Given the description of an element on the screen output the (x, y) to click on. 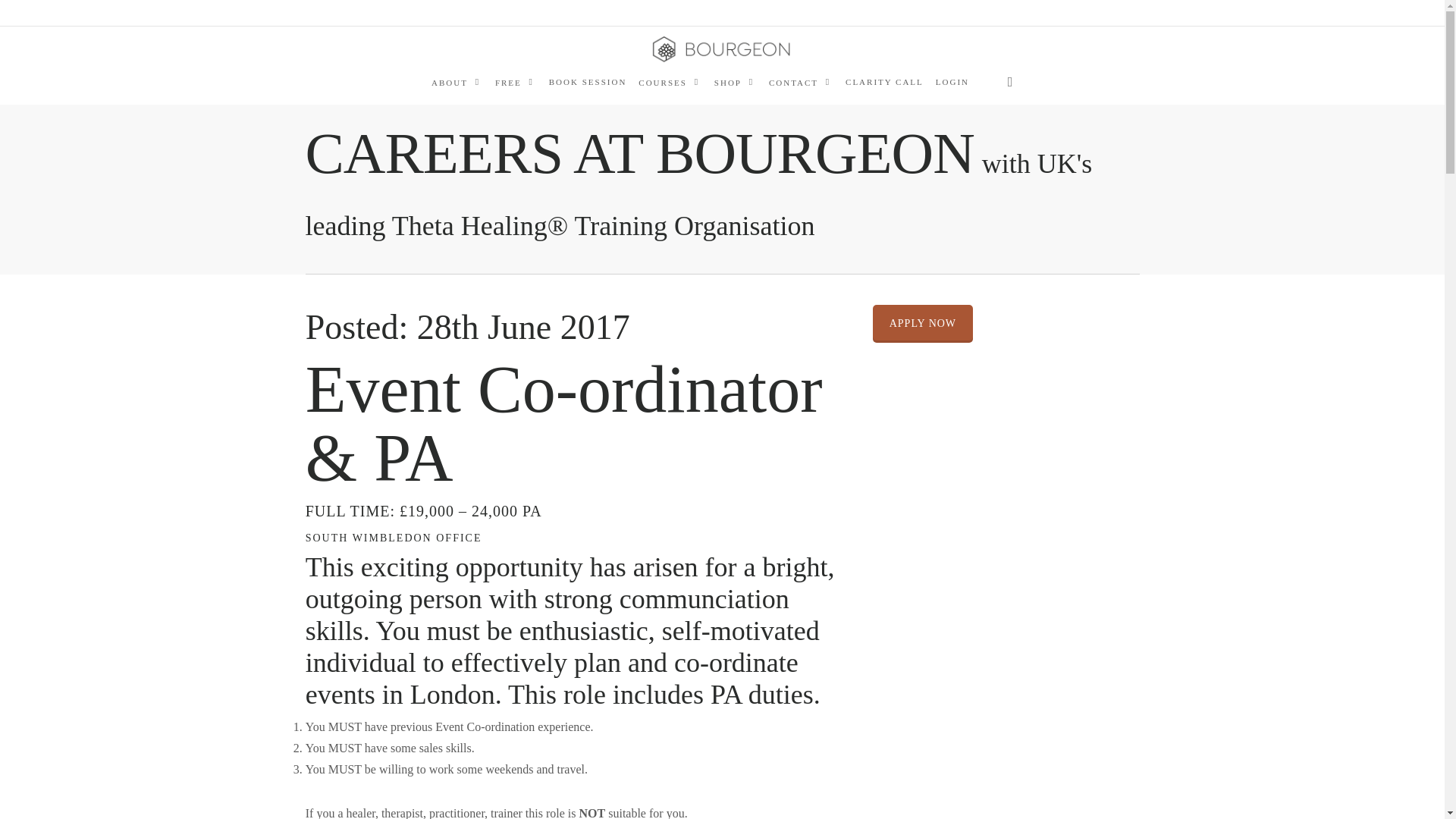
search (1010, 81)
CONTACT (801, 81)
0 (1035, 89)
APPLY NOW (922, 323)
LOGIN (952, 81)
ABOUT (457, 81)
BOOK SESSION (588, 81)
APPLY NOW (922, 323)
SHOP (734, 81)
FREE (516, 81)
